Given the description of an element on the screen output the (x, y) to click on. 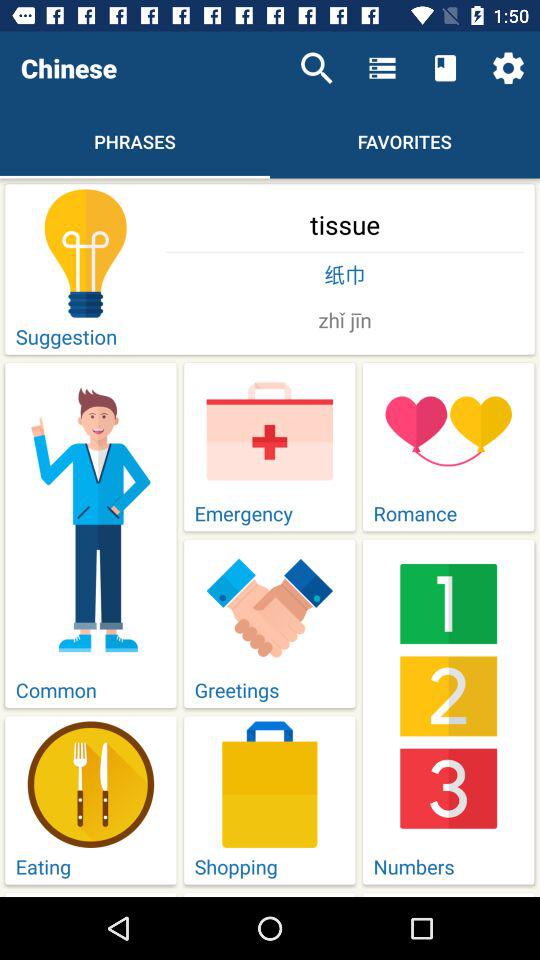
turn off item next to chinese item (316, 67)
